Given the description of an element on the screen output the (x, y) to click on. 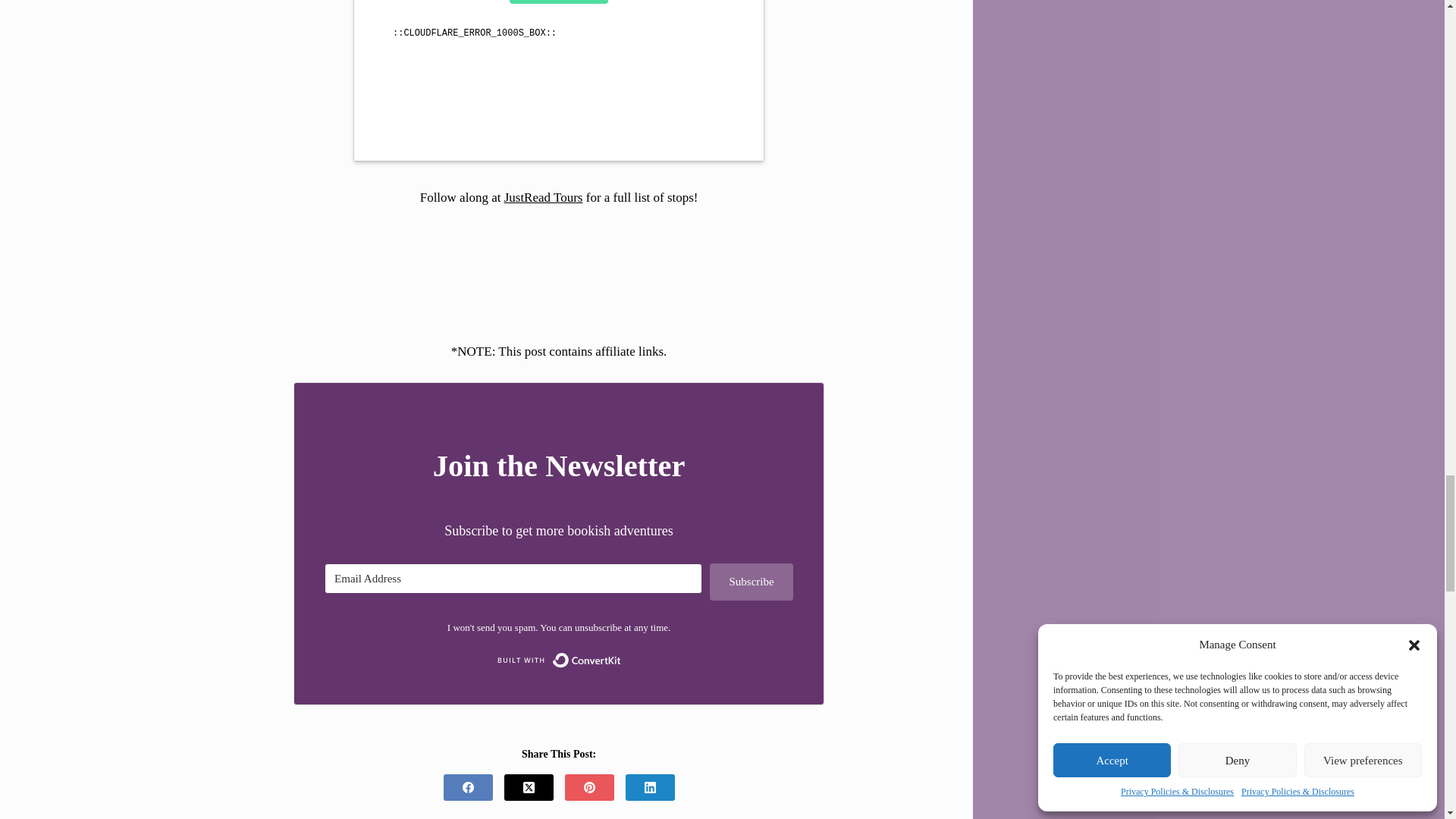
Competition (557, 80)
